Given the description of an element on the screen output the (x, y) to click on. 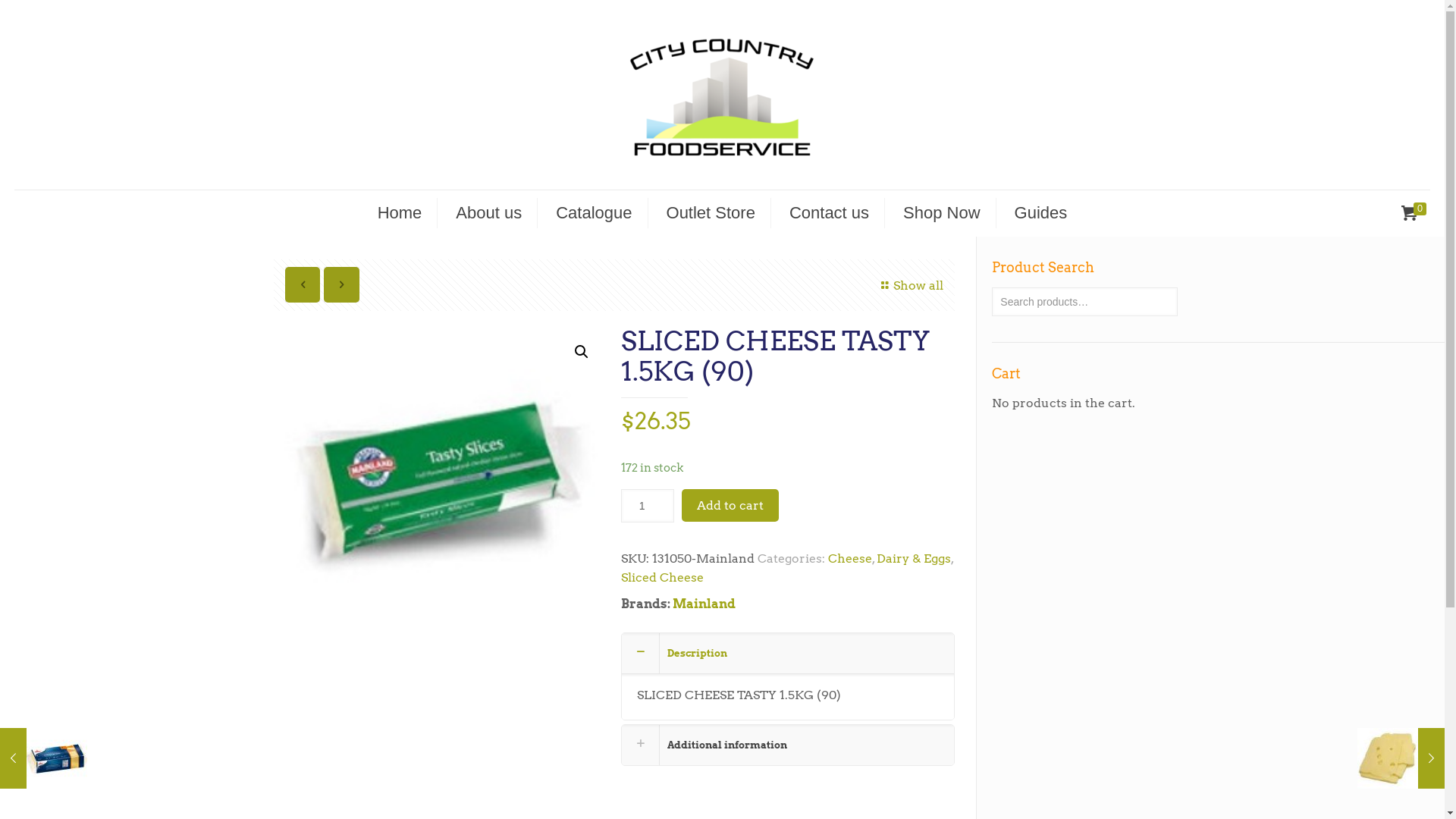
Cheese Element type: text (850, 558)
About us Element type: text (488, 212)
Sliced Cheese Element type: text (662, 577)
Qty Element type: hover (647, 505)
0 Element type: text (1414, 213)
Show all Element type: text (908, 285)
Add to cart Element type: text (729, 505)
Dairy & Eggs Element type: text (913, 558)
Outlet Store Element type: text (711, 212)
Home Element type: text (400, 212)
Shop Now Element type: text (942, 212)
131050-Mainland Element type: hover (440, 492)
Catalogue Element type: text (593, 212)
City Country Foodservice Element type: hover (721, 94)
Contact us Element type: text (829, 212)
Mainland Element type: text (703, 603)
Guides Element type: text (1040, 212)
Search Element type: text (31, 14)
